Given the description of an element on the screen output the (x, y) to click on. 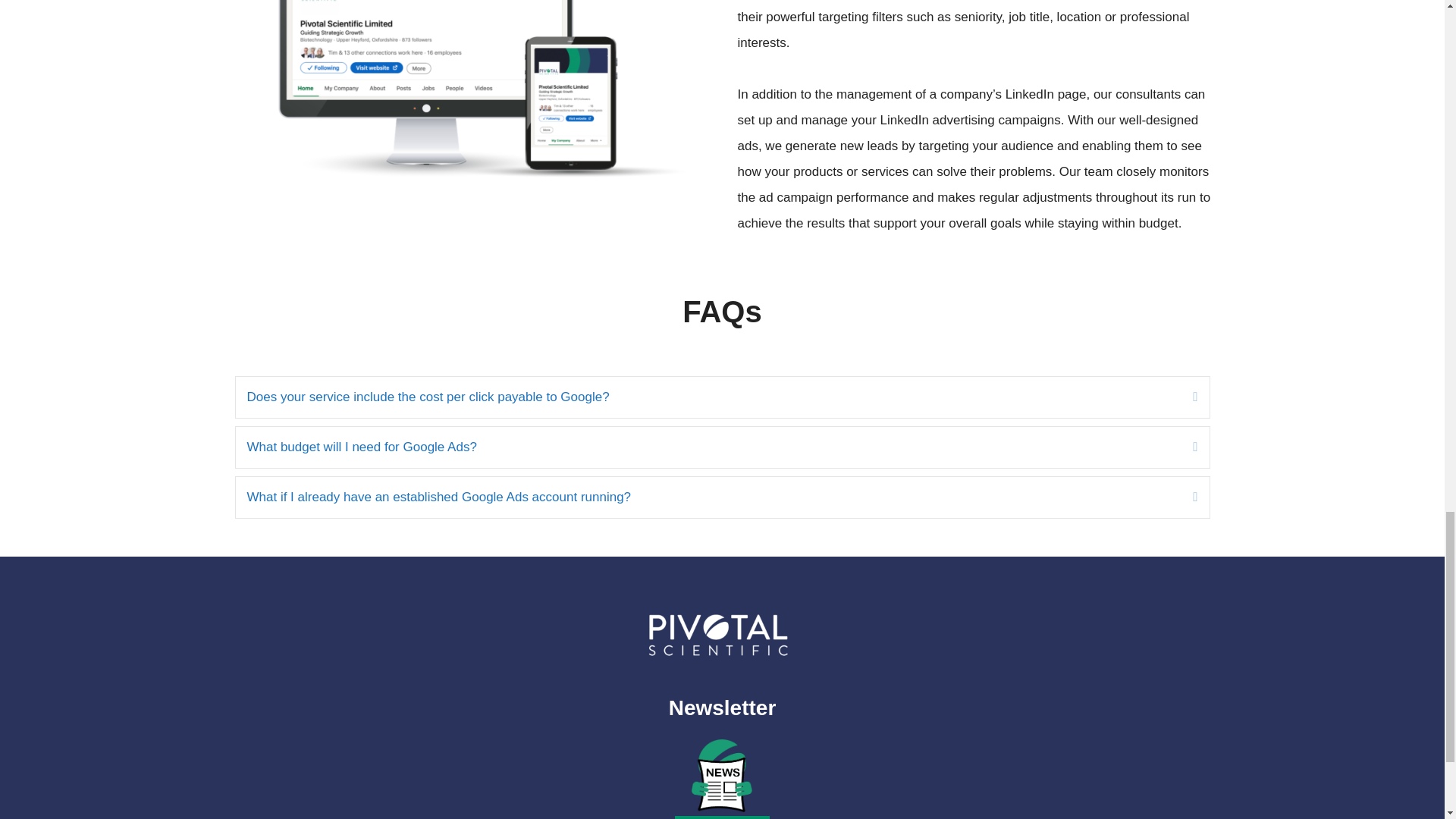
Linked In Home (463, 100)
